Given the description of an element on the screen output the (x, y) to click on. 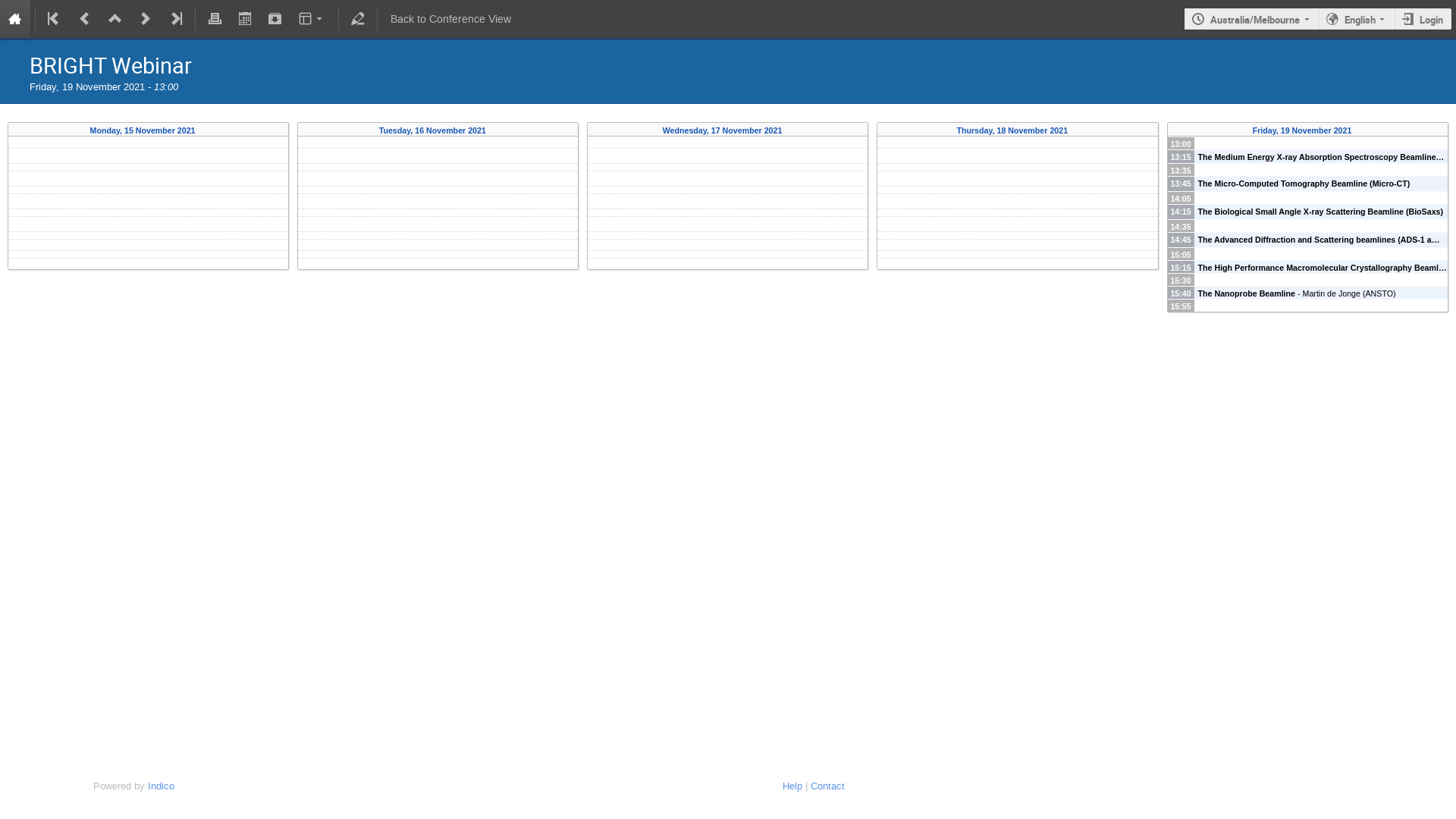
Back to Conference View Element type: text (450, 18)
Oldest event Element type: hover (54, 18)
14:05 Element type: text (1307, 197)
13:35 Element type: text (1307, 169)
Printable version Element type: hover (214, 18)
Download material Element type: hover (275, 18)
15:55 Element type: text (1307, 304)
15:05 Element type: text (1307, 253)
Login Element type: text (1422, 19)
Export to iCal Element type: hover (244, 18)
13:00 Element type: text (1307, 142)
Help Element type: text (792, 785)
15:40
The Nanoprobe Beamline - Martin de Jonge (ANSTO) Element type: text (1307, 291)
15:30 Element type: text (1307, 279)
Up to category Element type: hover (115, 18)
Older event Element type: hover (84, 18)
Newest event Element type: hover (175, 18)
Indico Element type: text (160, 785)
Change theme Element type: hover (311, 18)
English Element type: text (1356, 19)
Go to the Indico Home Page Element type: hover (15, 18)
Newer event Element type: hover (145, 18)
Switch to the management area of this event Element type: hover (357, 18)
13:45
The Micro-Computed Tomography Beamline (Micro-CT) Element type: text (1307, 183)
Australia/Melbourne Element type: text (1251, 19)
Contact Element type: text (826, 785)
14:35 Element type: text (1307, 225)
